Given the description of an element on the screen output the (x, y) to click on. 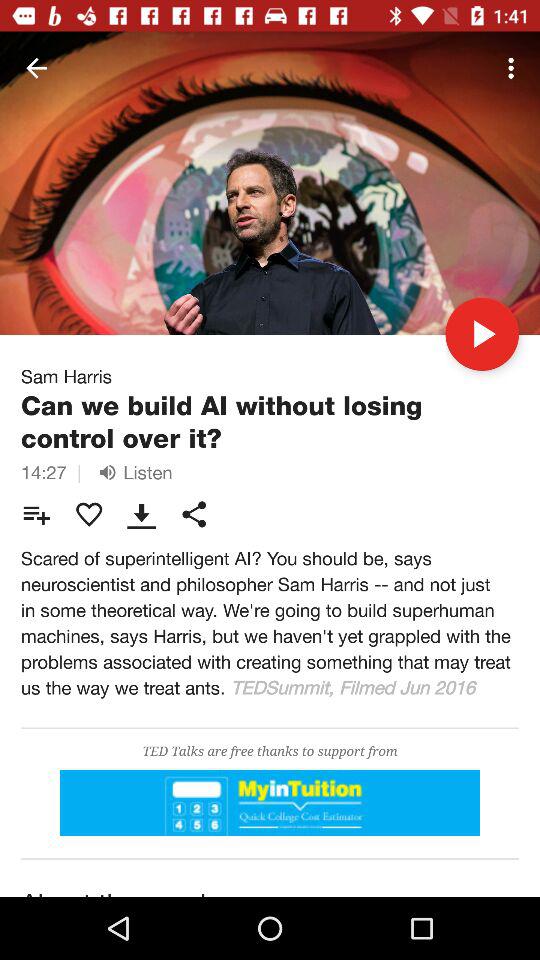
good (270, 802)
